Given the description of an element on the screen output the (x, y) to click on. 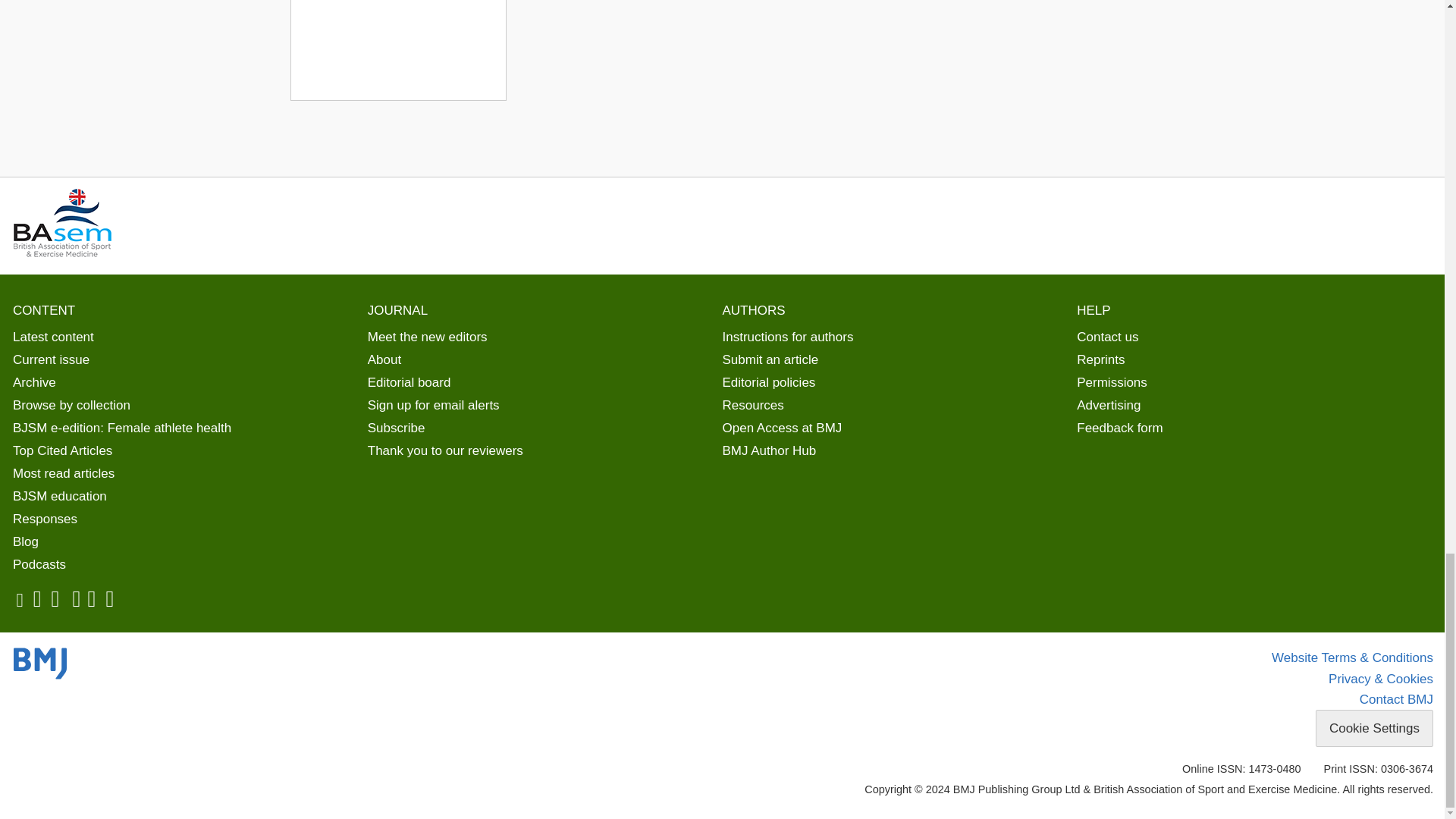
careers widget (397, 50)
